Given the description of an element on the screen output the (x, y) to click on. 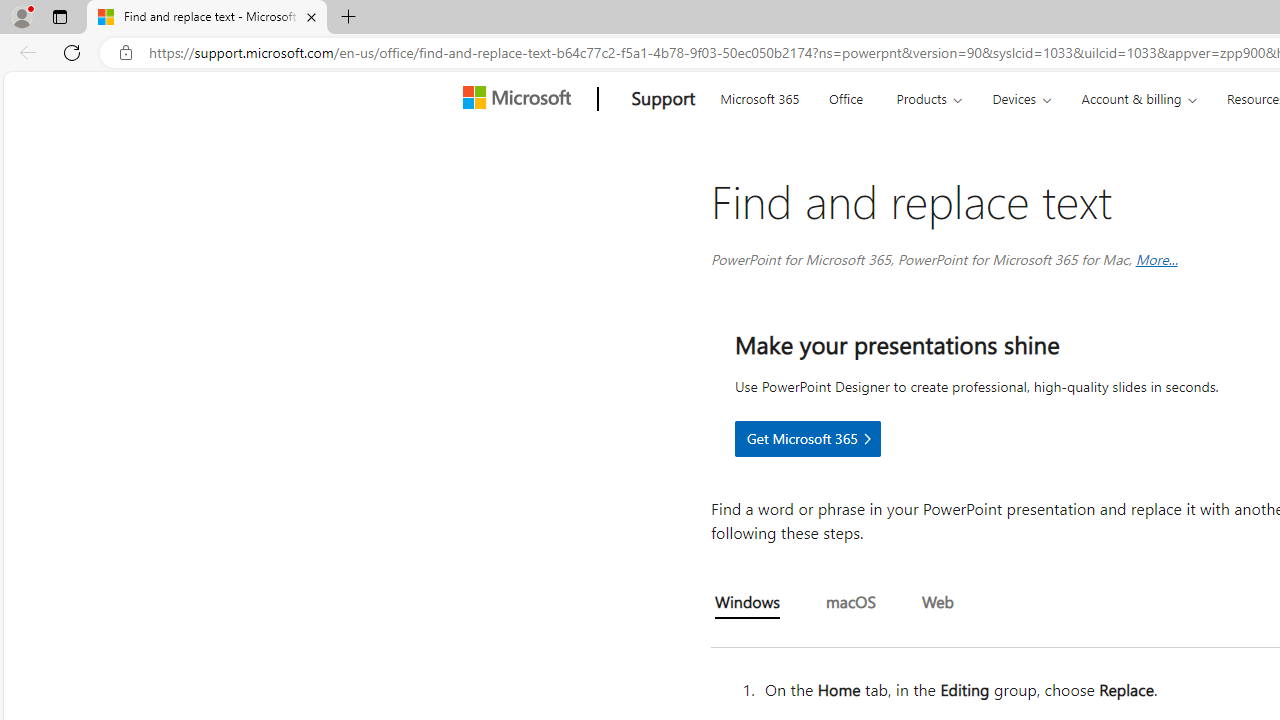
Microsoft 365 (759, 96)
Refresh (72, 52)
Microsoft 365 (759, 96)
Close tab (311, 16)
New Tab (349, 17)
Windows (747, 604)
Back (24, 52)
Office (845, 96)
Find and replace text - Microsoft Support (207, 17)
Microsoft (520, 99)
